Given the description of an element on the screen output the (x, y) to click on. 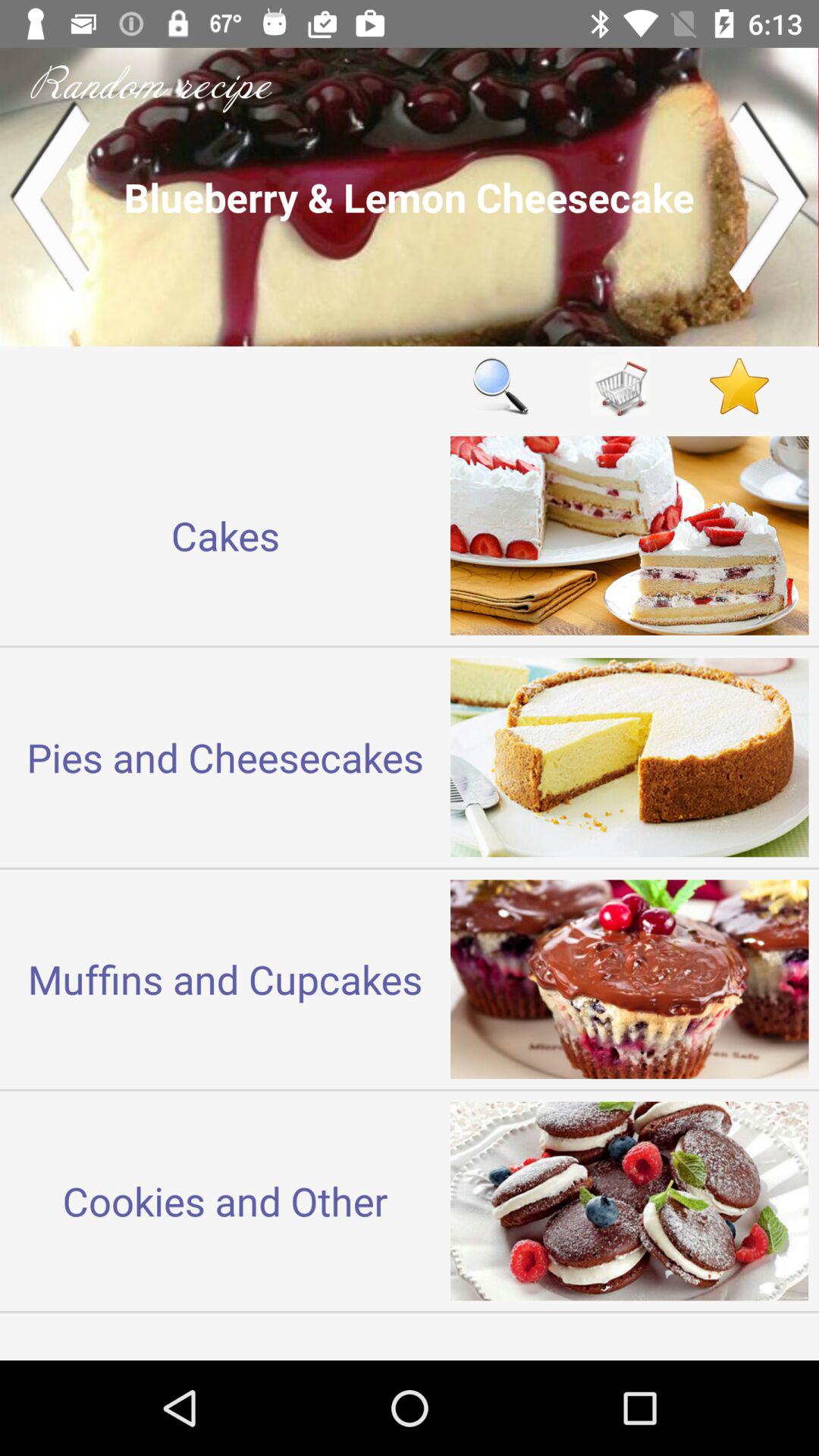
flip until the pies and cheesecakes icon (225, 756)
